Given the description of an element on the screen output the (x, y) to click on. 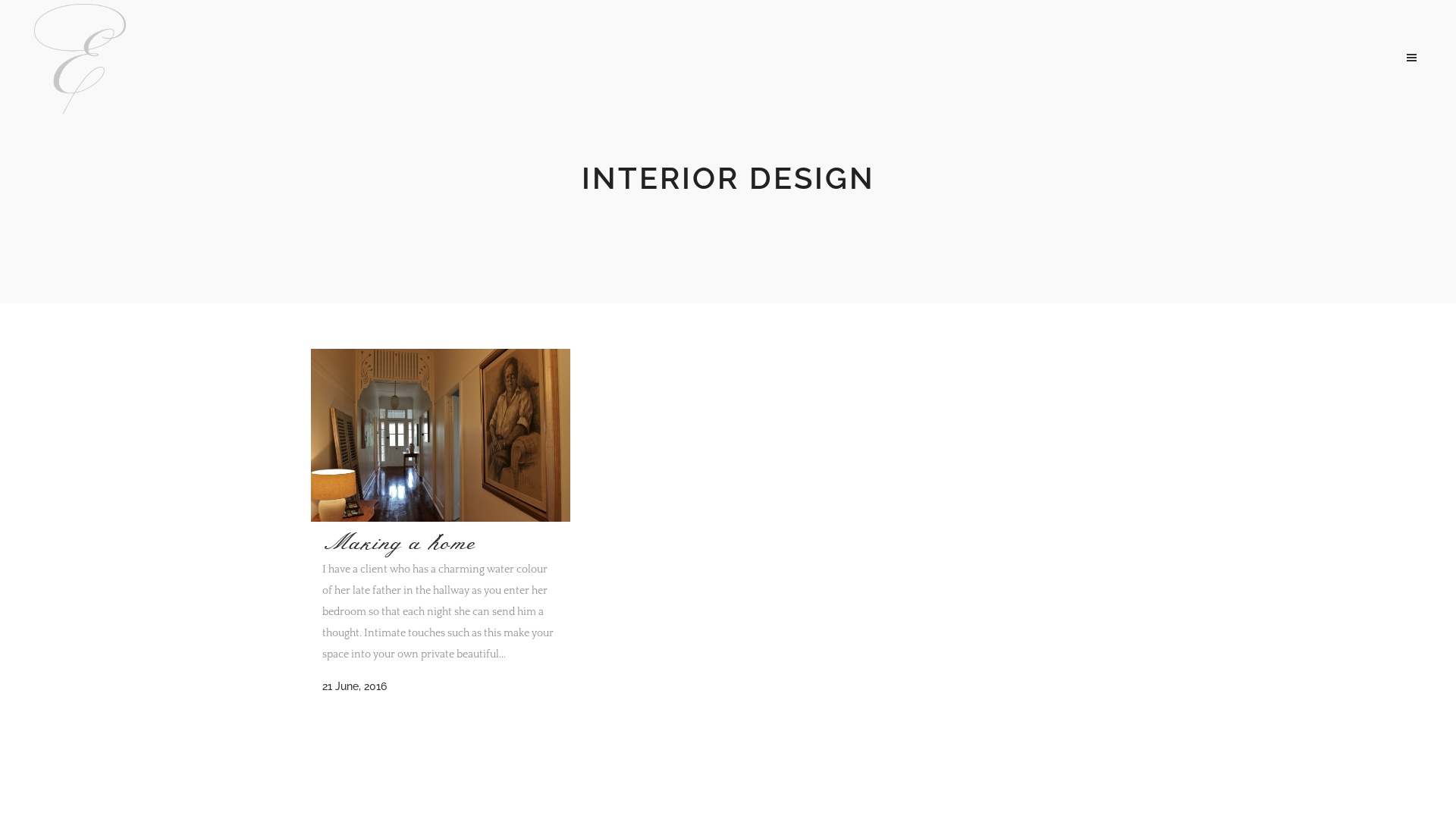
  Element type: text (1410, 56)
Making a home Element type: text (398, 542)
Making a home Element type: hover (440, 434)
